Given the description of an element on the screen output the (x, y) to click on. 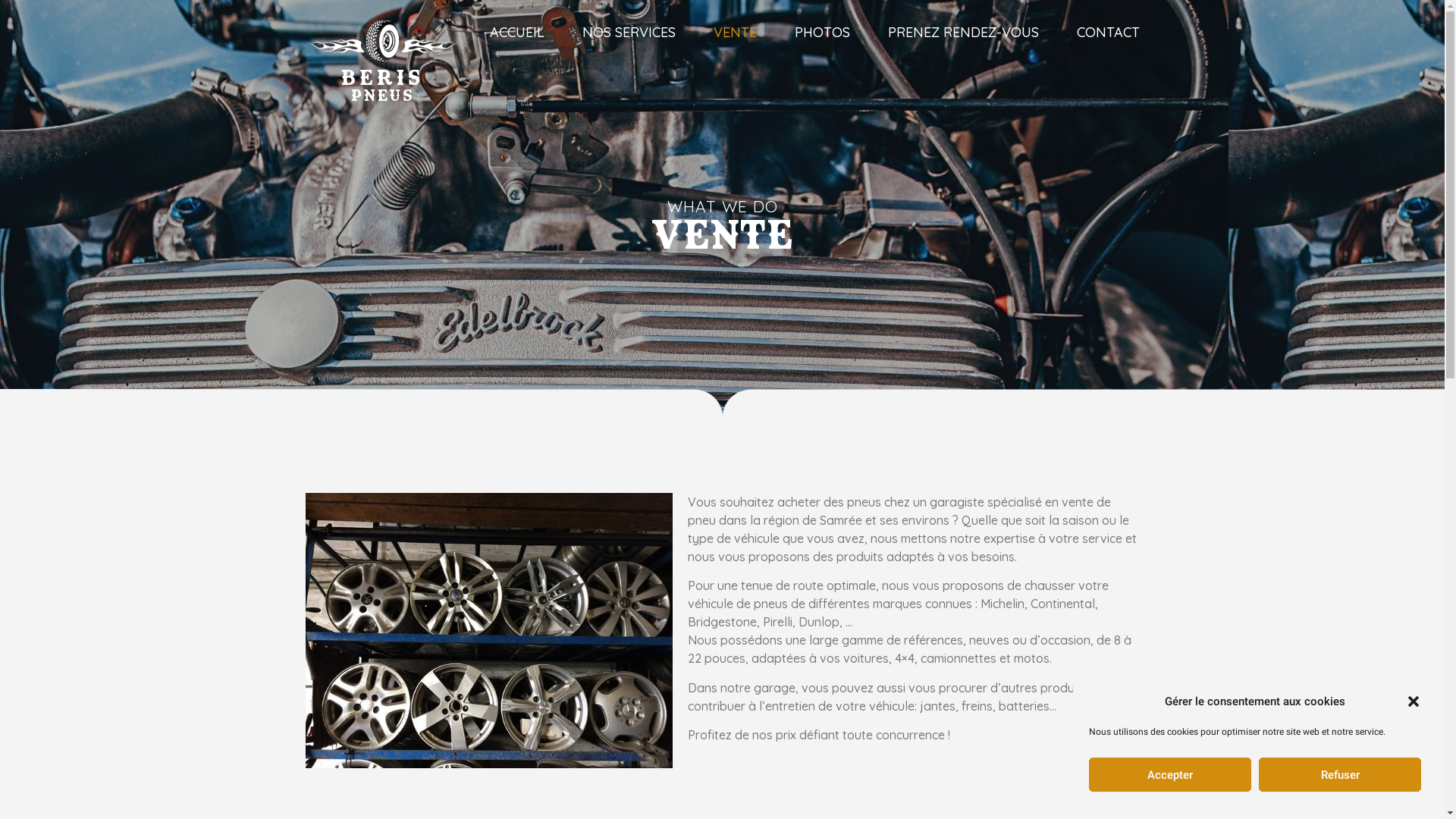
PRENEZ RENDEZ-VOUS Element type: text (962, 32)
VENTE Element type: text (734, 32)
ACCUEIL Element type: text (516, 32)
Accepter Element type: text (1169, 774)
Refuser Element type: text (1339, 774)
CONTACT Element type: text (1107, 32)
NOS SERVICES Element type: text (628, 32)
PHOTOS Element type: text (822, 32)
